Given the description of an element on the screen output the (x, y) to click on. 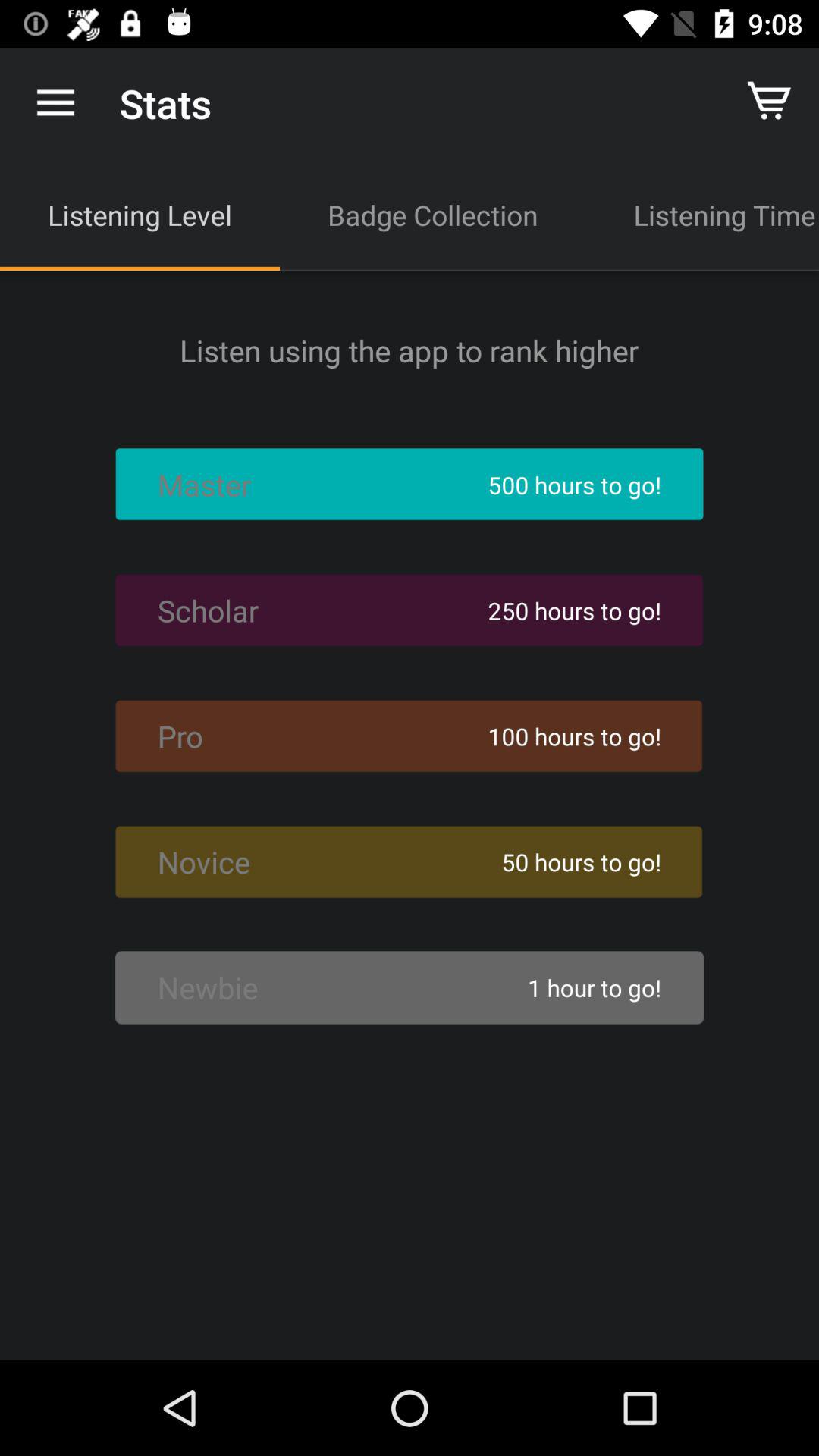
open icon next to the listening level icon (432, 214)
